Given the description of an element on the screen output the (x, y) to click on. 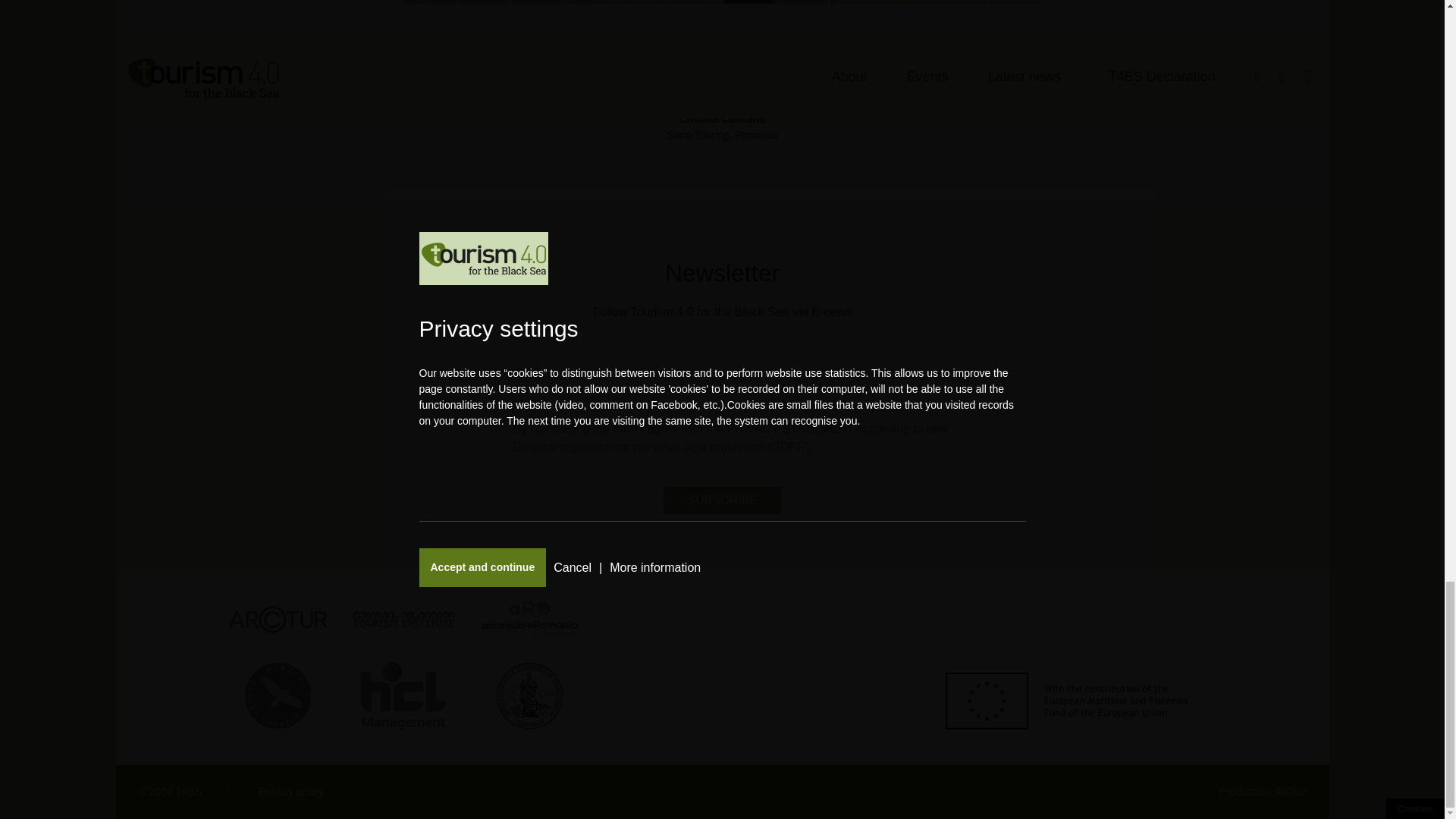
subscribe (721, 500)
subscribe (721, 500)
PRIVACY STATEMENT (789, 428)
